Given the description of an element on the screen output the (x, y) to click on. 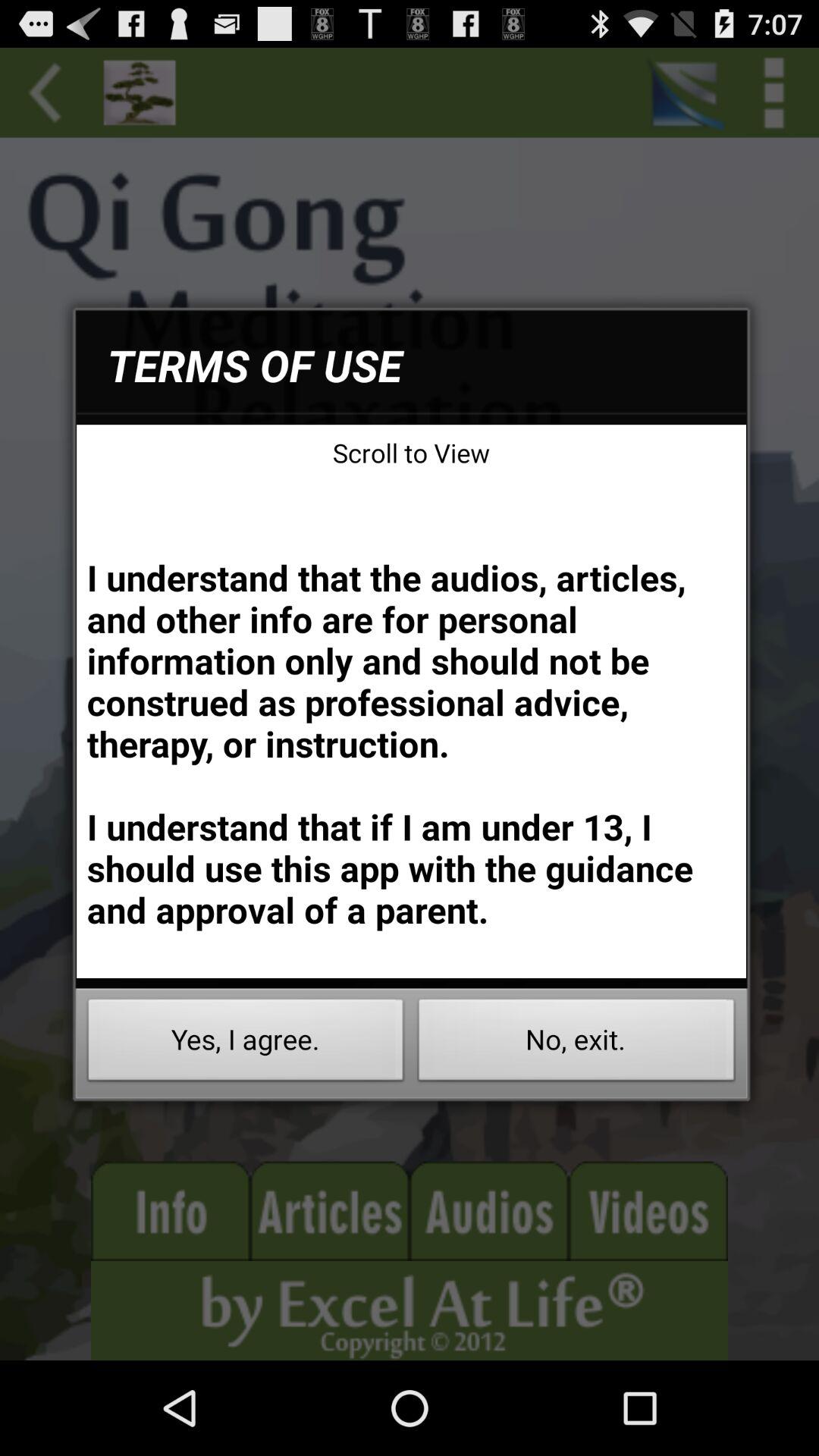
select the icon to the right of the yes, i agree. button (576, 1044)
